Given the description of an element on the screen output the (x, y) to click on. 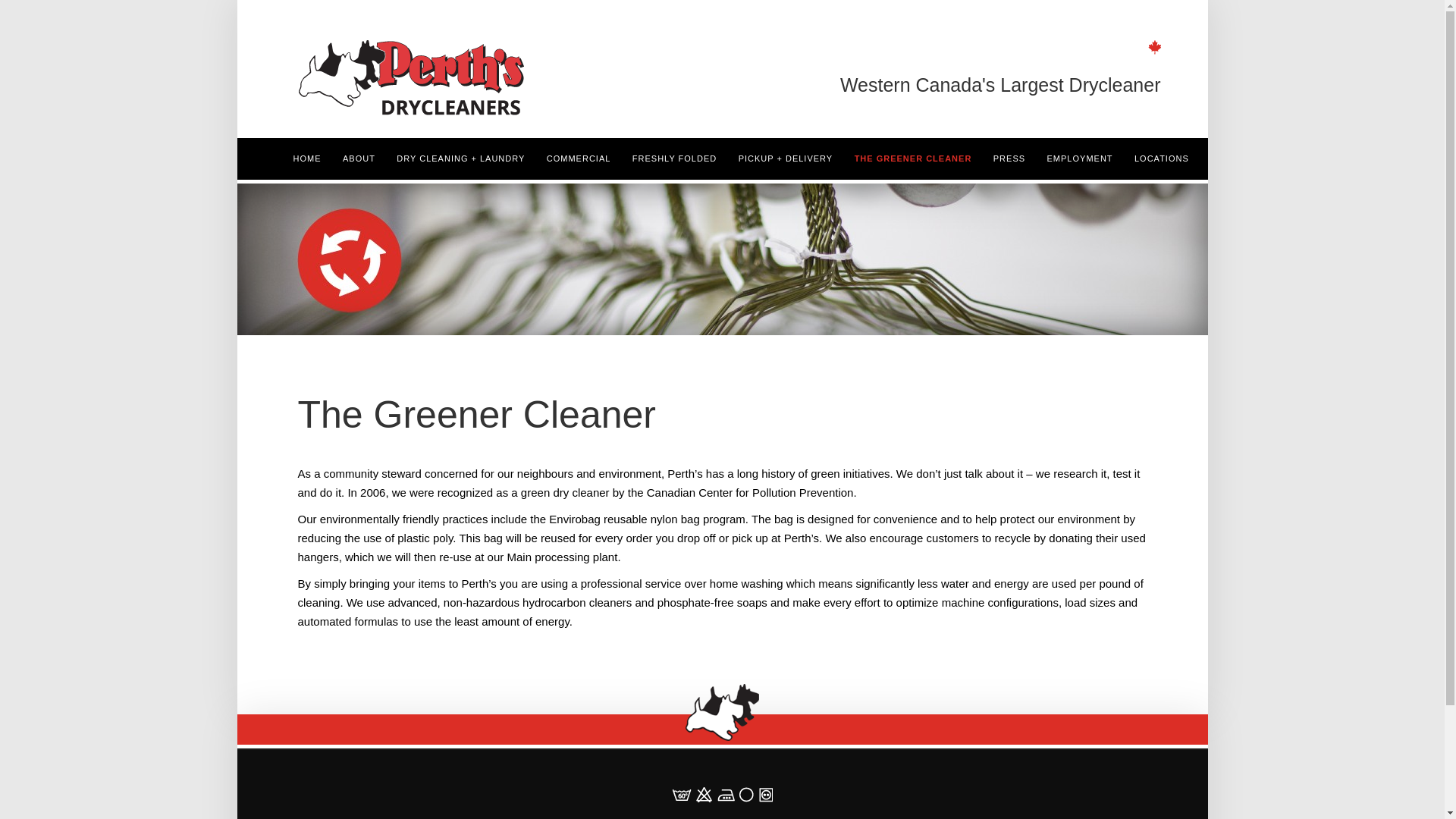
ABOUT (358, 158)
THE GREENER CLEANER (913, 158)
HOME (306, 158)
PRESS (1008, 158)
LOCATIONS (1161, 158)
COMMERCIAL (578, 158)
EMPLOYMENT (1080, 158)
FRESHLY FOLDED (674, 158)
